Given the description of an element on the screen output the (x, y) to click on. 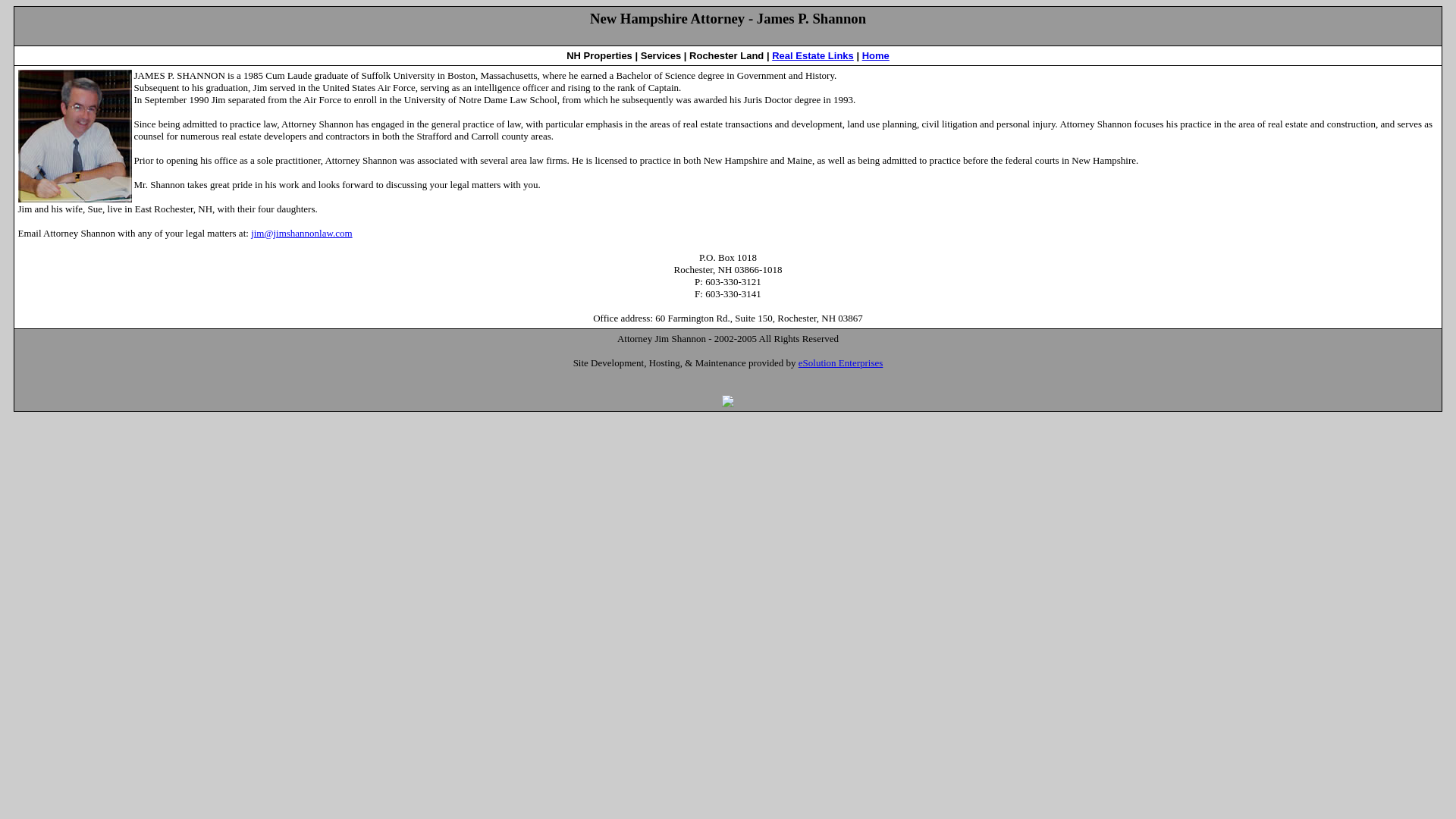
Real Estate Links (812, 55)
eSolution Enterprises (840, 362)
Home (875, 55)
